Given the description of an element on the screen output the (x, y) to click on. 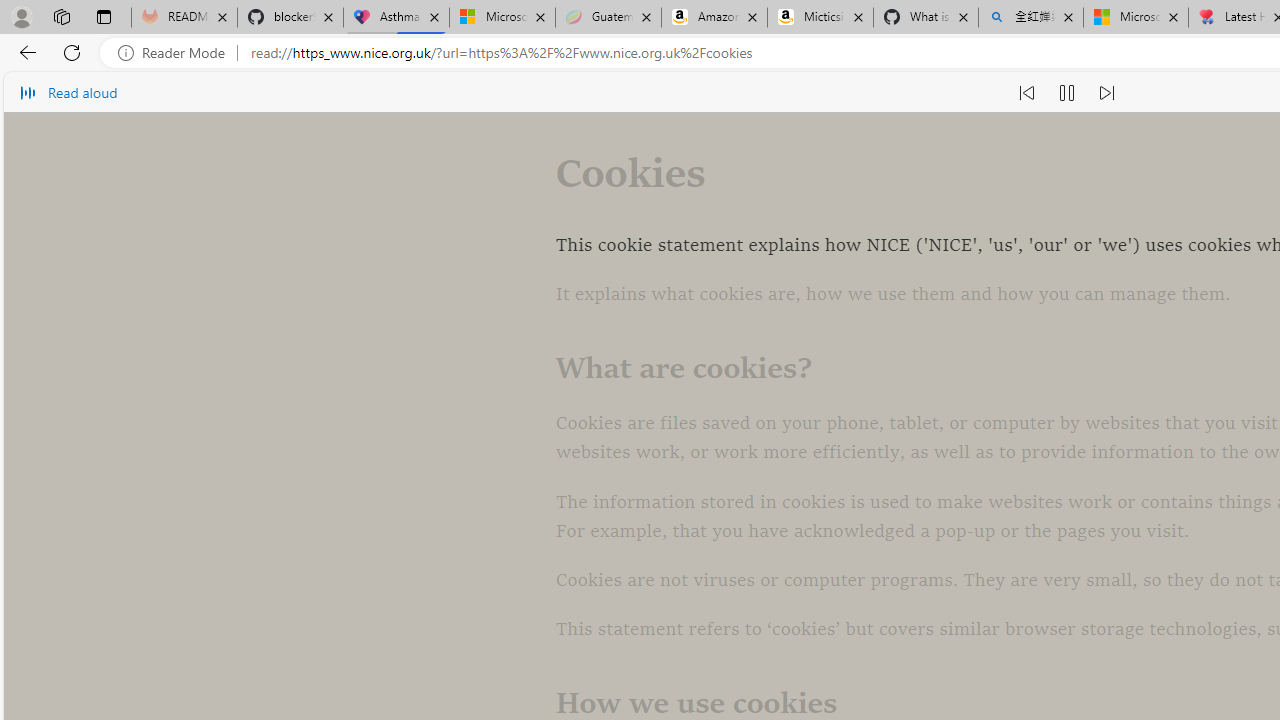
Reader Mode (177, 53)
Pause read aloud (Ctrl+Shift+U) (1065, 92)
Read next paragraph (1105, 92)
Read previous paragraph (1026, 92)
